Given the description of an element on the screen output the (x, y) to click on. 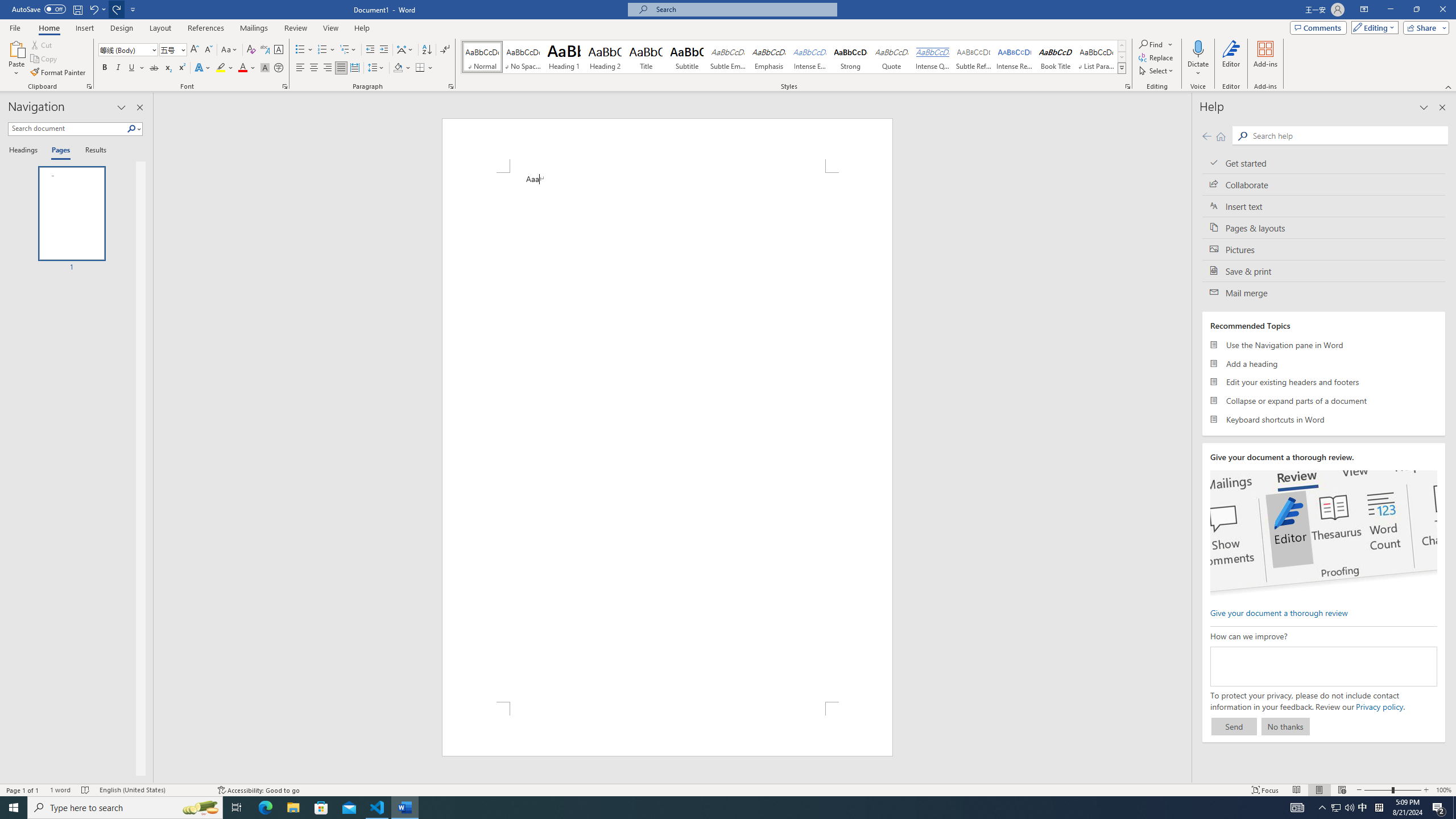
Save & print (1323, 270)
Spelling and Grammar Check No Errors (85, 790)
Italic (118, 67)
Line and Paragraph Spacing (376, 67)
Bold (104, 67)
Shading (402, 67)
Quote (891, 56)
Intense Reference (1014, 56)
Phonetic Guide... (264, 49)
Collapse or expand parts of a document (1323, 400)
Center (313, 67)
